Given the description of an element on the screen output the (x, y) to click on. 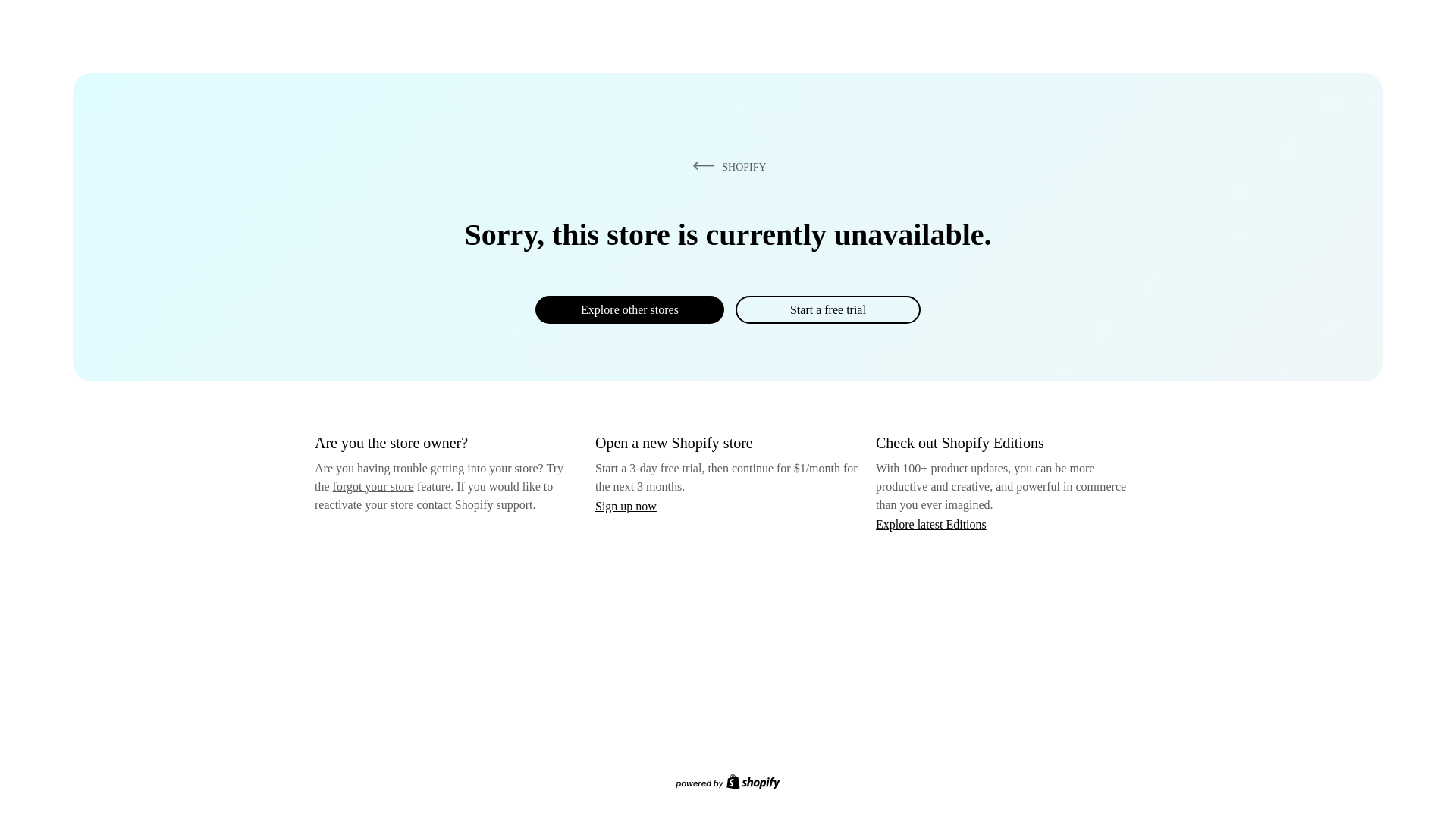
Shopify support (493, 504)
SHOPIFY (726, 166)
forgot your store (373, 486)
Sign up now (625, 505)
Explore latest Editions (931, 523)
Start a free trial (827, 309)
Explore other stores (629, 309)
